Given the description of an element on the screen output the (x, y) to click on. 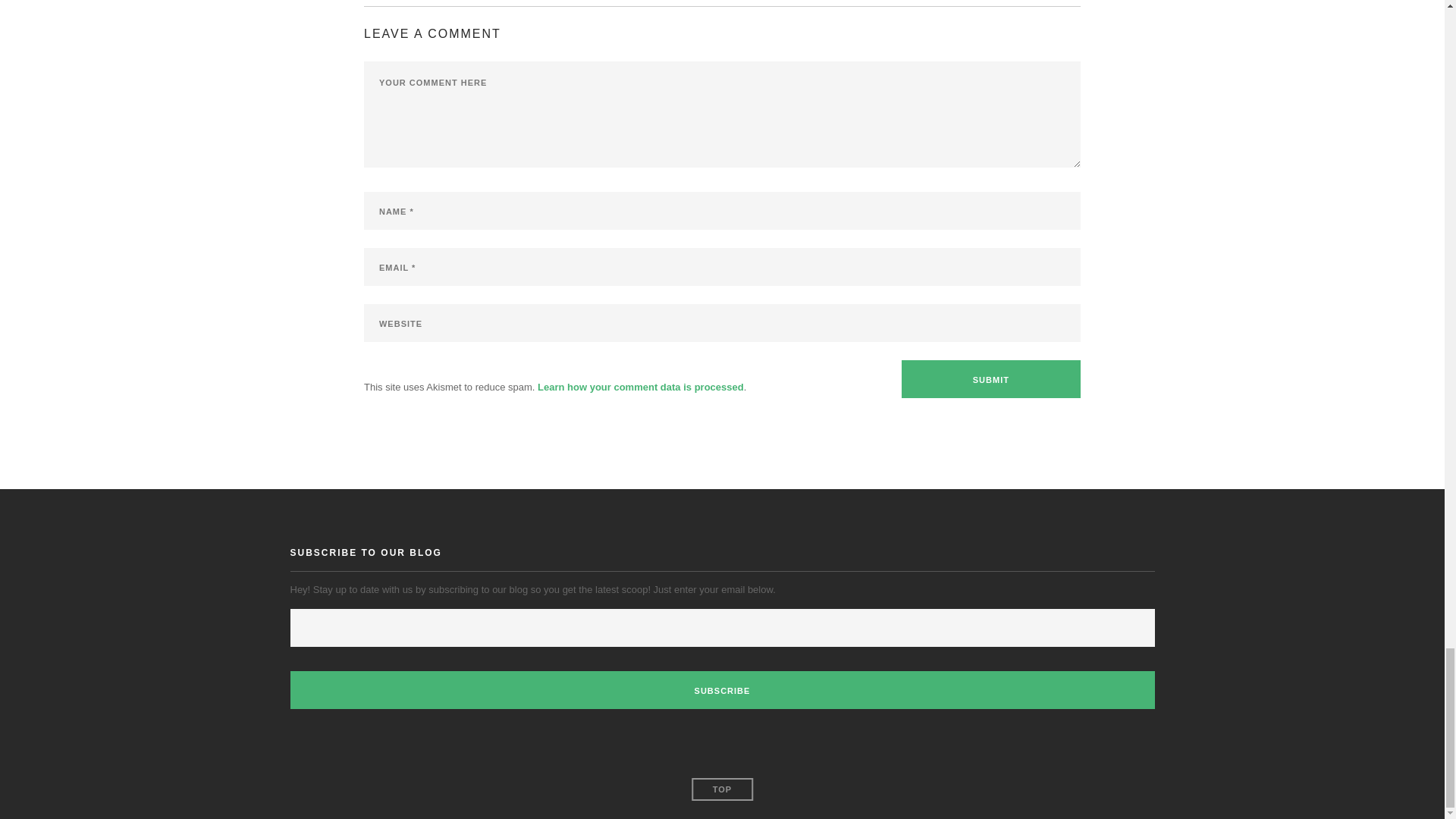
Submit (990, 379)
TOP (721, 789)
Submit (990, 379)
Learn how your comment data is processed (640, 387)
Subscribe (721, 689)
Subscribe (721, 689)
